Given the description of an element on the screen output the (x, y) to click on. 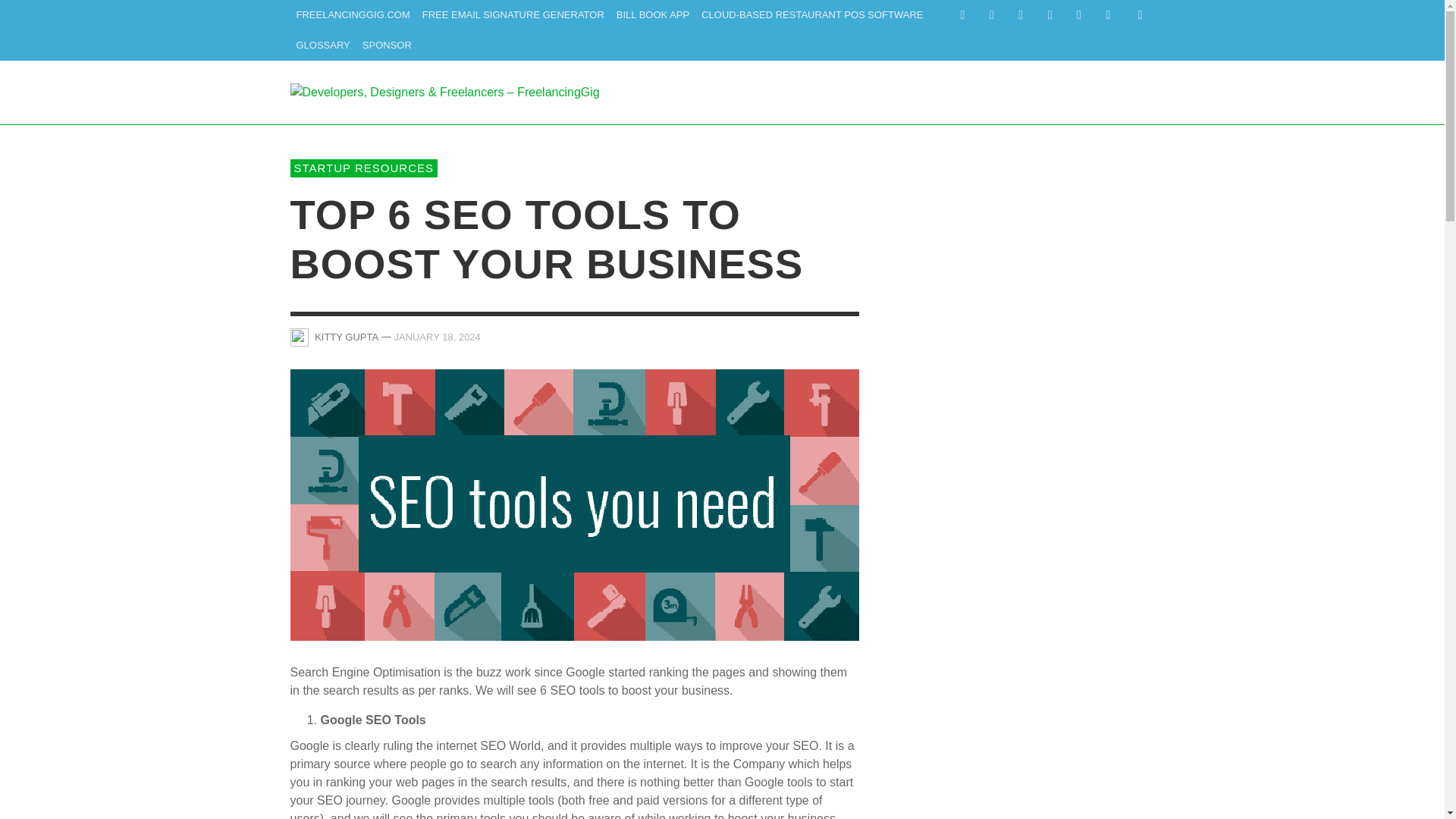
Twitter (1078, 15)
Youtube (1107, 15)
Instagram (991, 15)
STARTUP RESOURCES (363, 167)
Permalink to image of Top 6 SEO Tools to Boost Your Business (574, 503)
CLOUD-BASED RESTAURANT POS SOFTWARE (811, 15)
LinkedIn (1020, 15)
JANUARY 18, 2024 (436, 337)
Pinterest (1049, 15)
GLOSSARY (322, 45)
